Given the description of an element on the screen output the (x, y) to click on. 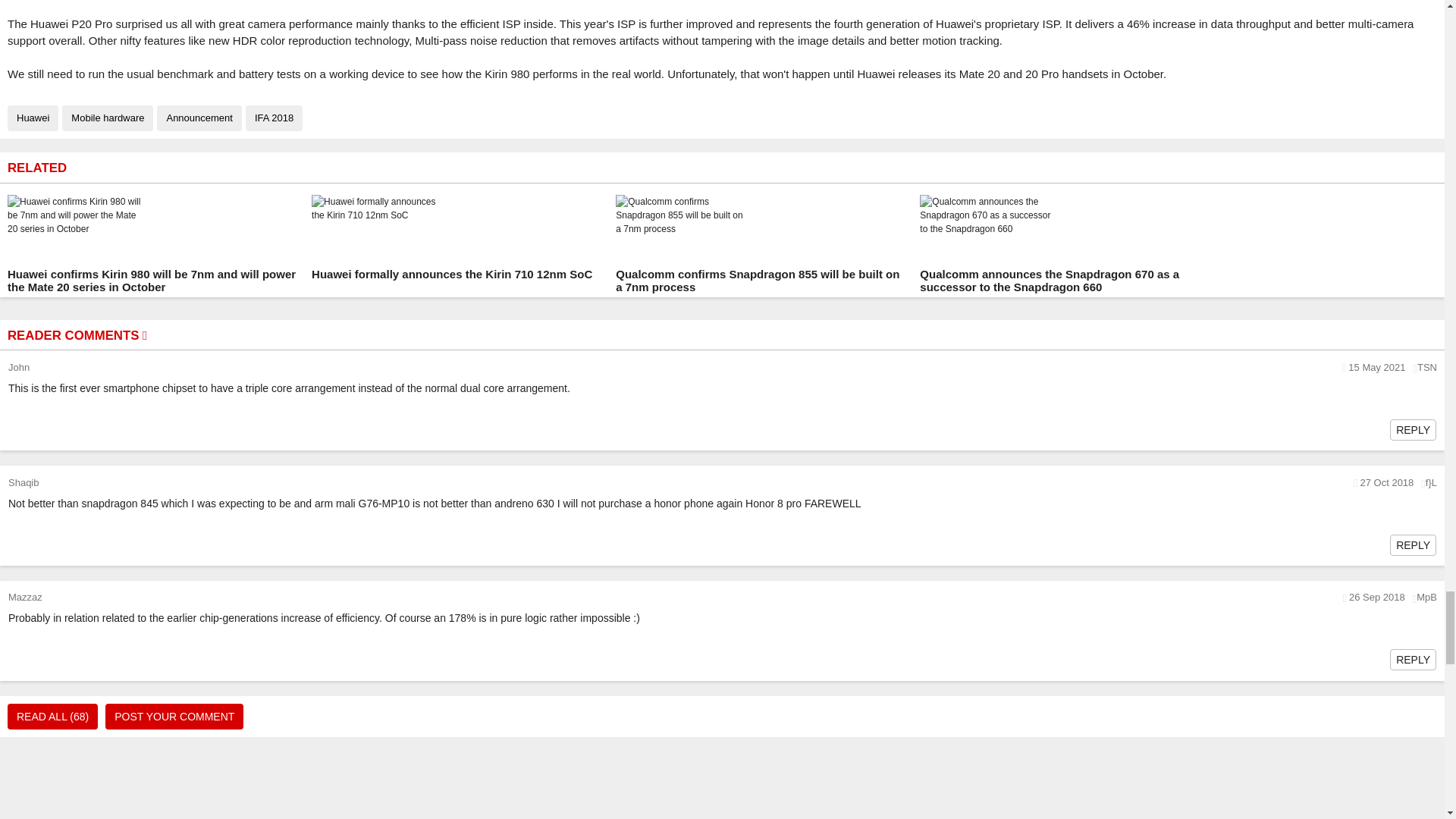
Encoded anonymized location (1426, 597)
Encoded anonymized location (1426, 367)
Reply to this post (1412, 429)
Reply to this post (1412, 544)
Reply to this post (1412, 659)
